Given the description of an element on the screen output the (x, y) to click on. 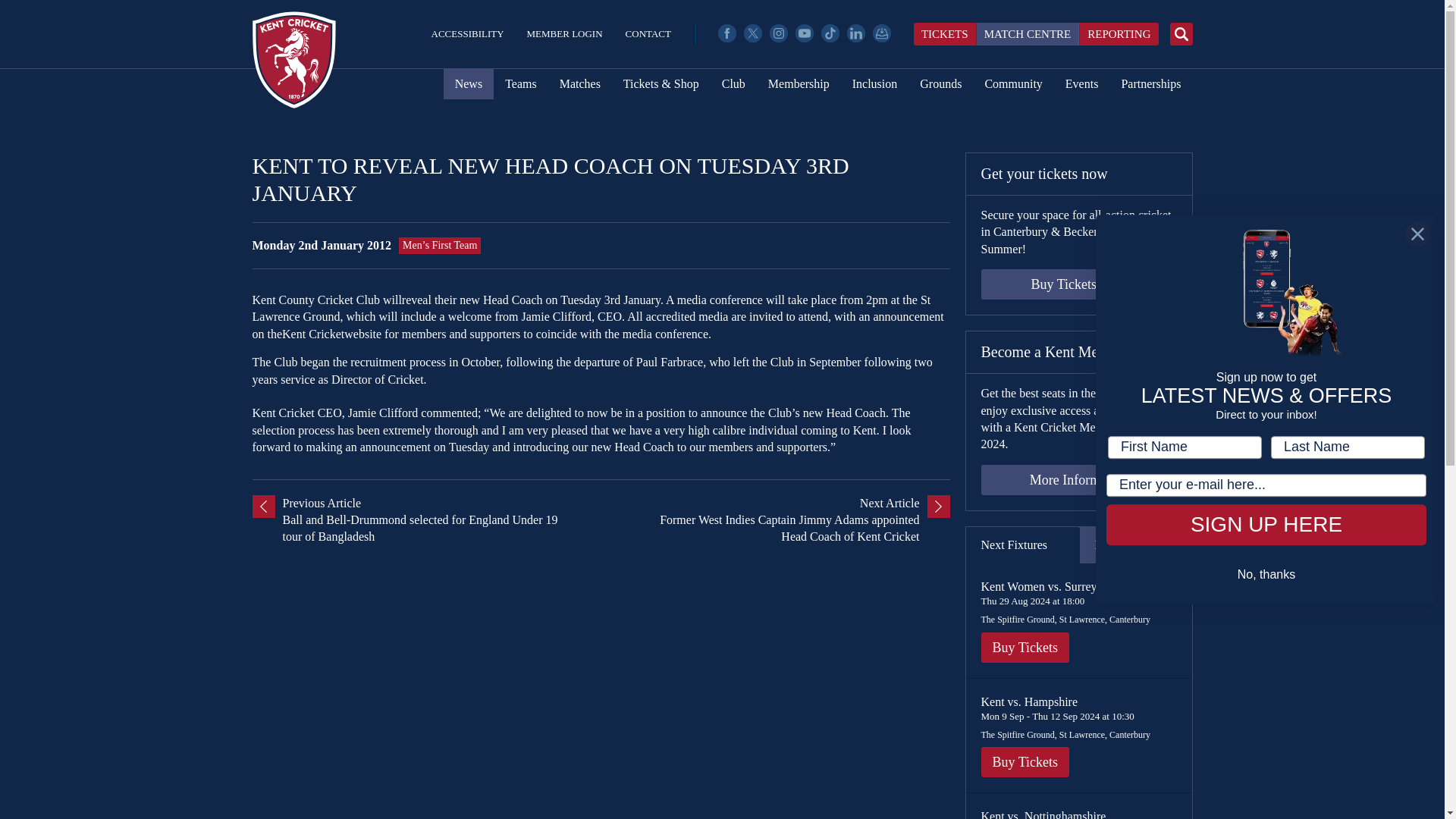
LinkedIn (855, 33)
CONTACT (648, 33)
MATCH CENTRE (1027, 33)
REPORTING (1117, 33)
YouTube (803, 33)
Newsletter (881, 33)
Matches (579, 83)
TikTok (830, 33)
Facebook (726, 33)
Instagram (778, 33)
